Given the description of an element on the screen output the (x, y) to click on. 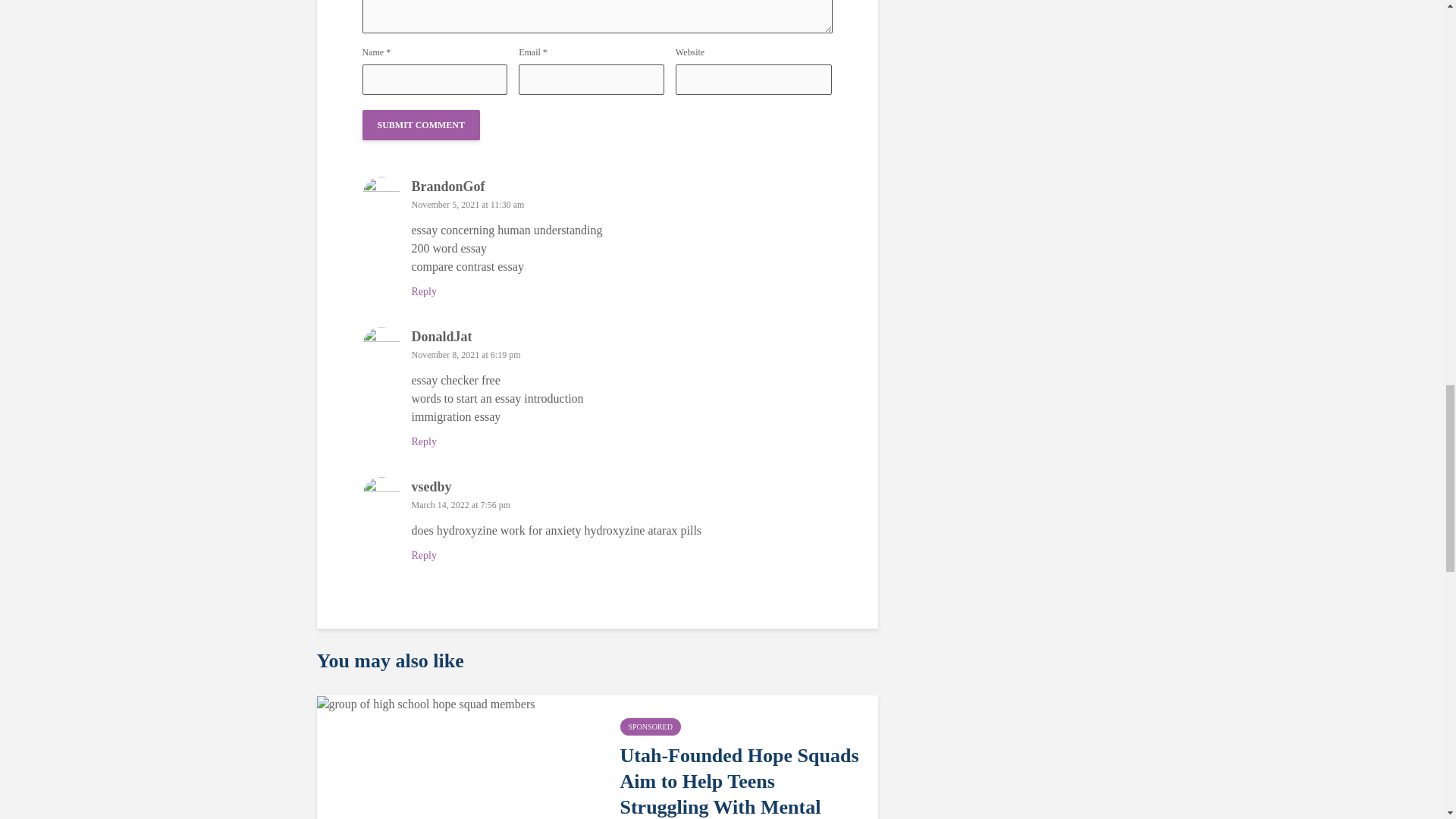
vsedby (430, 486)
Submit Comment (421, 124)
Reply (422, 441)
200 word essay (448, 247)
BrandonGof (447, 186)
DonaldJat (440, 336)
Submit Comment (421, 124)
Reply (422, 291)
words to start an essay introduction (496, 398)
